Given the description of an element on the screen output the (x, y) to click on. 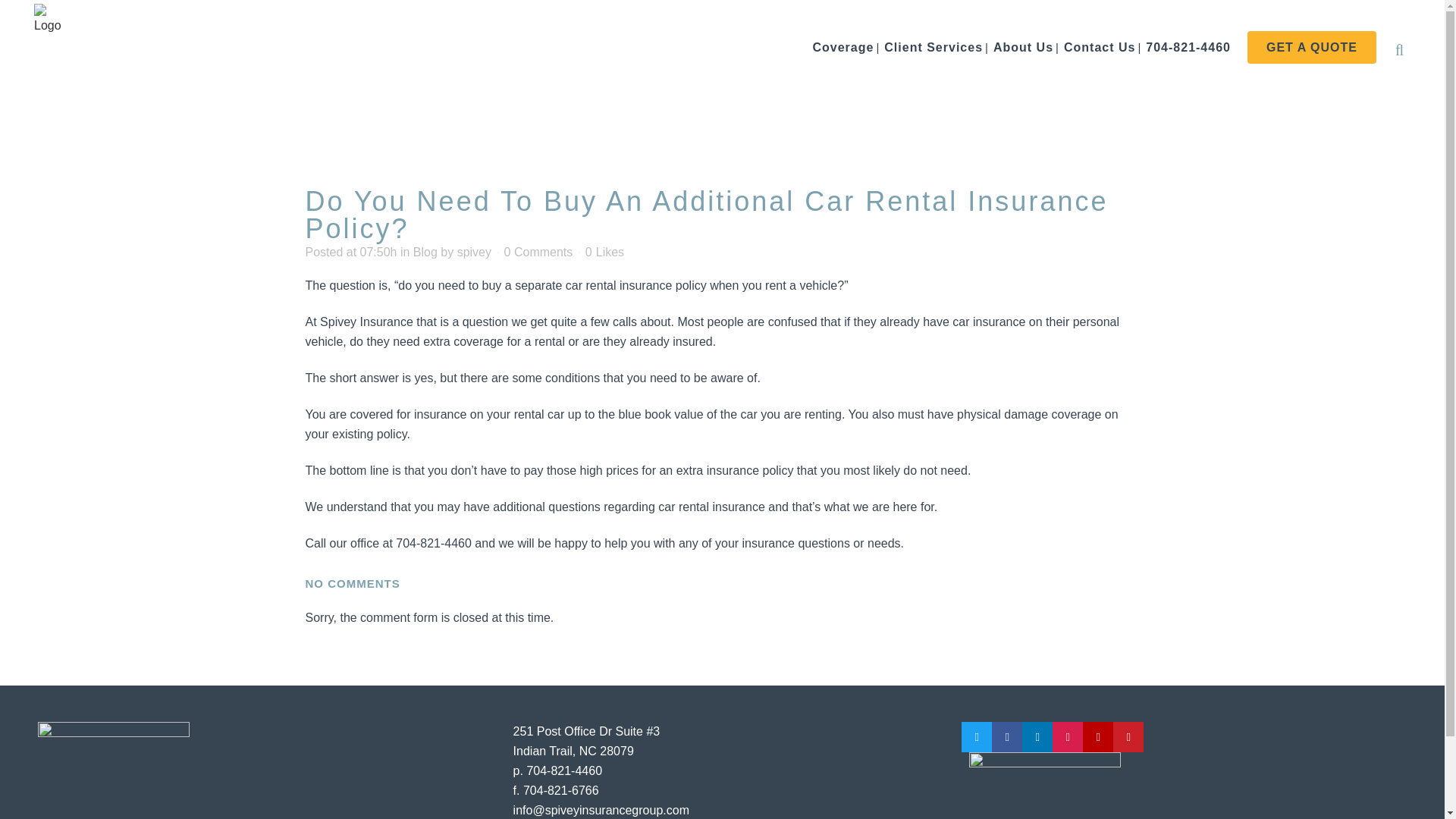
Like this (604, 252)
GET A QUOTE (1311, 47)
Client Services (933, 47)
